Given the description of an element on the screen output the (x, y) to click on. 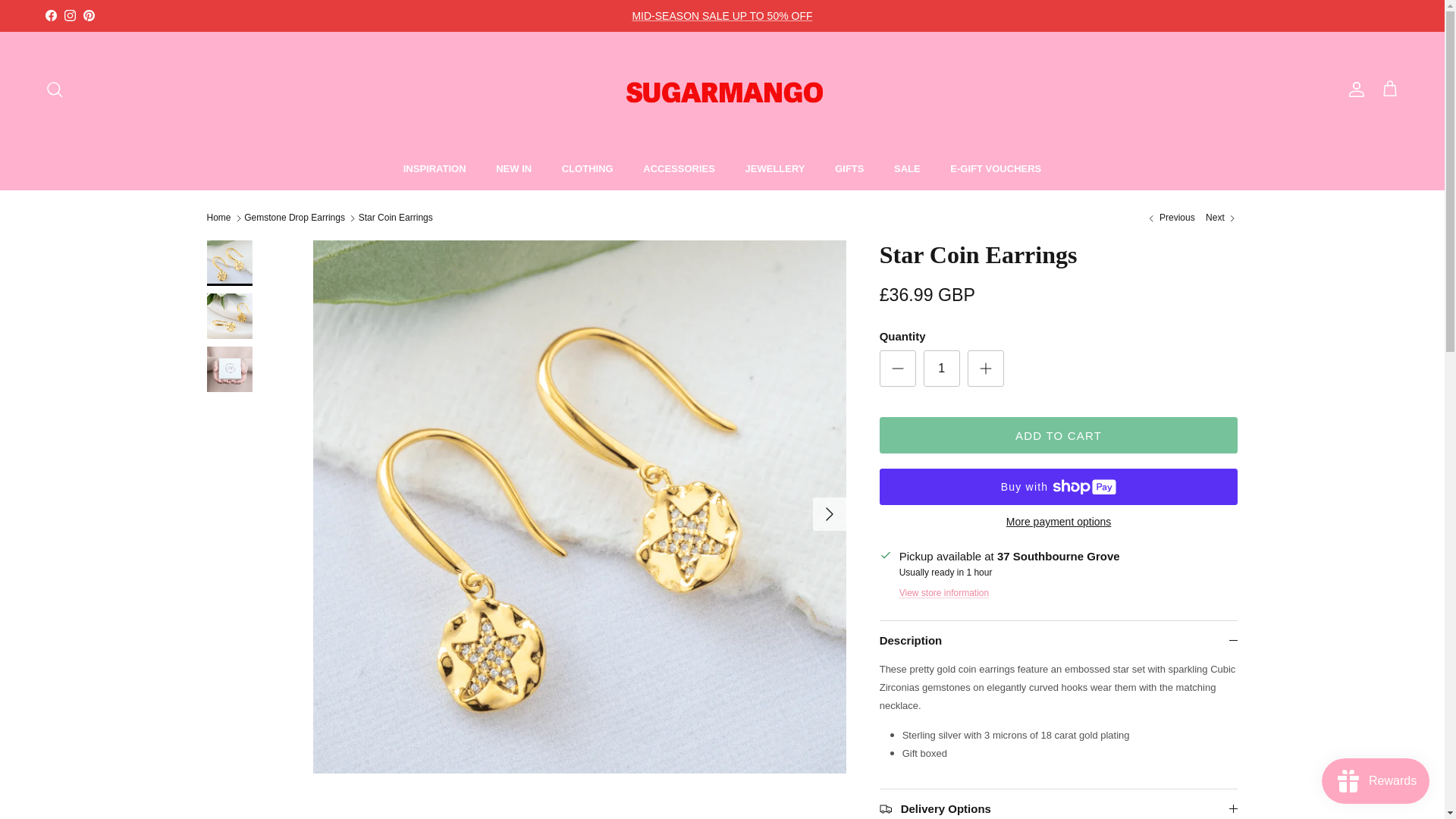
Facebook (50, 15)
Smile.io Rewards Program Launcher (1375, 780)
Search (54, 89)
Heart Coin Earrings (1221, 217)
Account (1352, 89)
Sugar Mango on Pinterest (88, 15)
Instagram (69, 15)
Sugar Mango on Instagram (69, 15)
Ashiana Ava Aqua Chalcedony Earrings (1169, 217)
Sugar Mango (722, 88)
NEW IN (512, 168)
1 (941, 368)
Pinterest (88, 15)
Cart (1389, 89)
CLOTHING (587, 168)
